Given the description of an element on the screen output the (x, y) to click on. 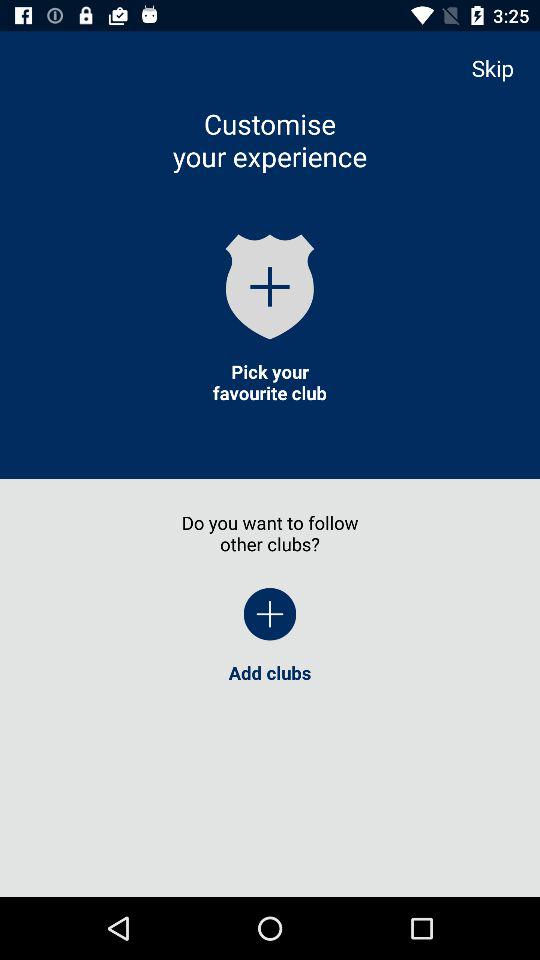
flip until pick your favourite item (269, 382)
